Given the description of an element on the screen output the (x, y) to click on. 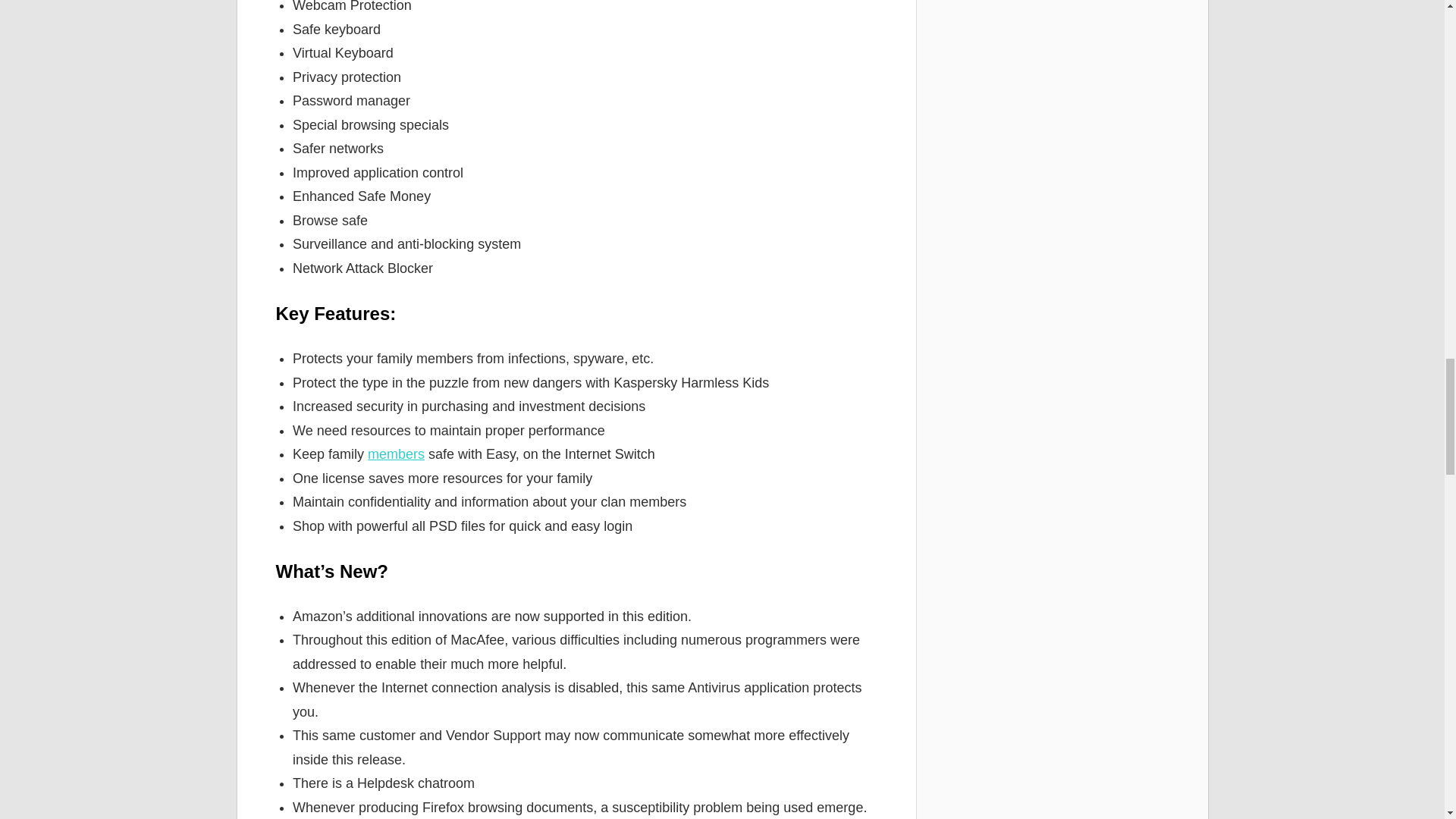
members (396, 453)
